Given the description of an element on the screen output the (x, y) to click on. 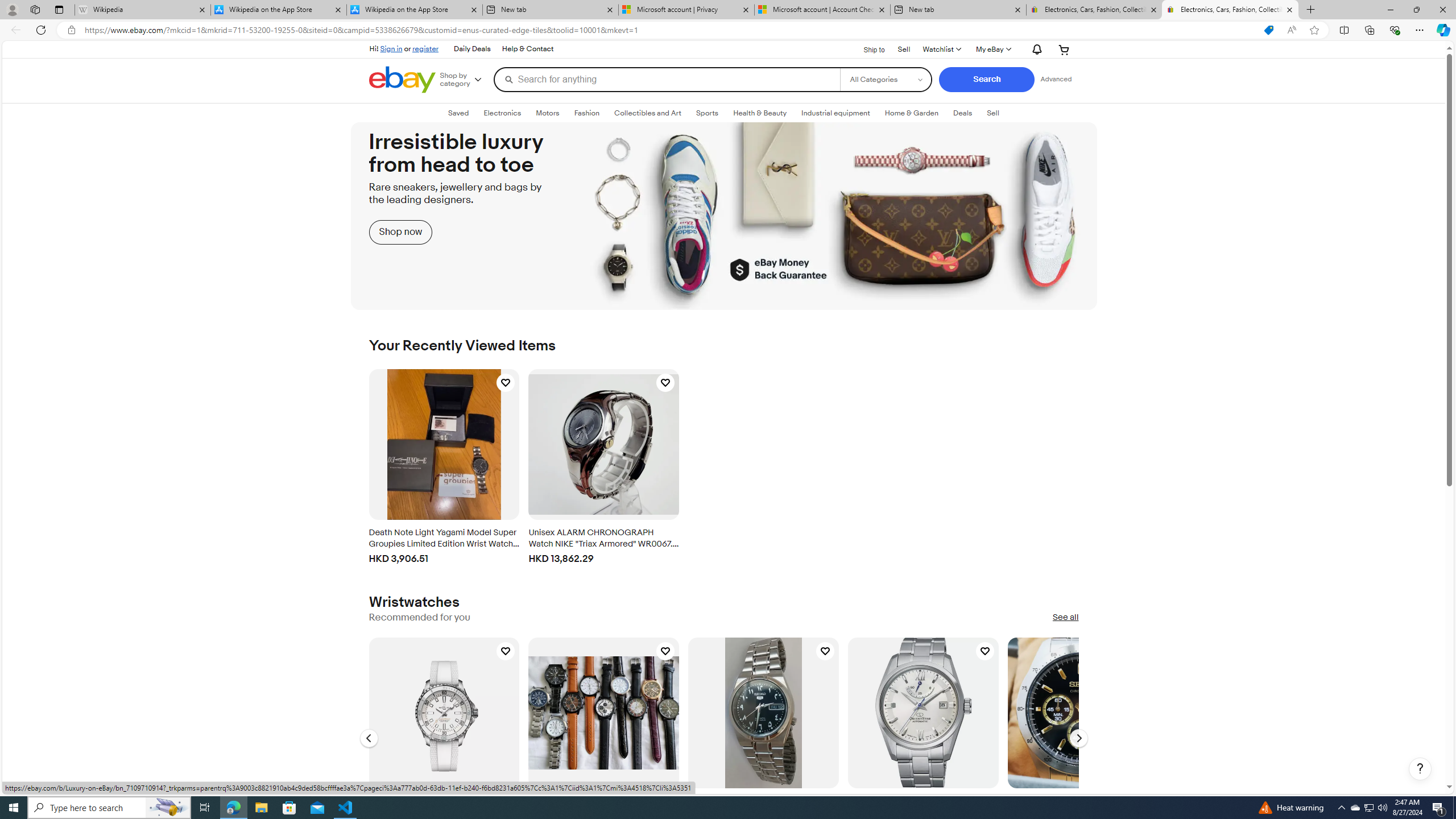
Deals (962, 112)
Motors (547, 112)
Shop by category (464, 79)
Irresistible luxury from head to toe (723, 215)
Home & Garden (911, 112)
register (425, 48)
